Given the description of an element on the screen output the (x, y) to click on. 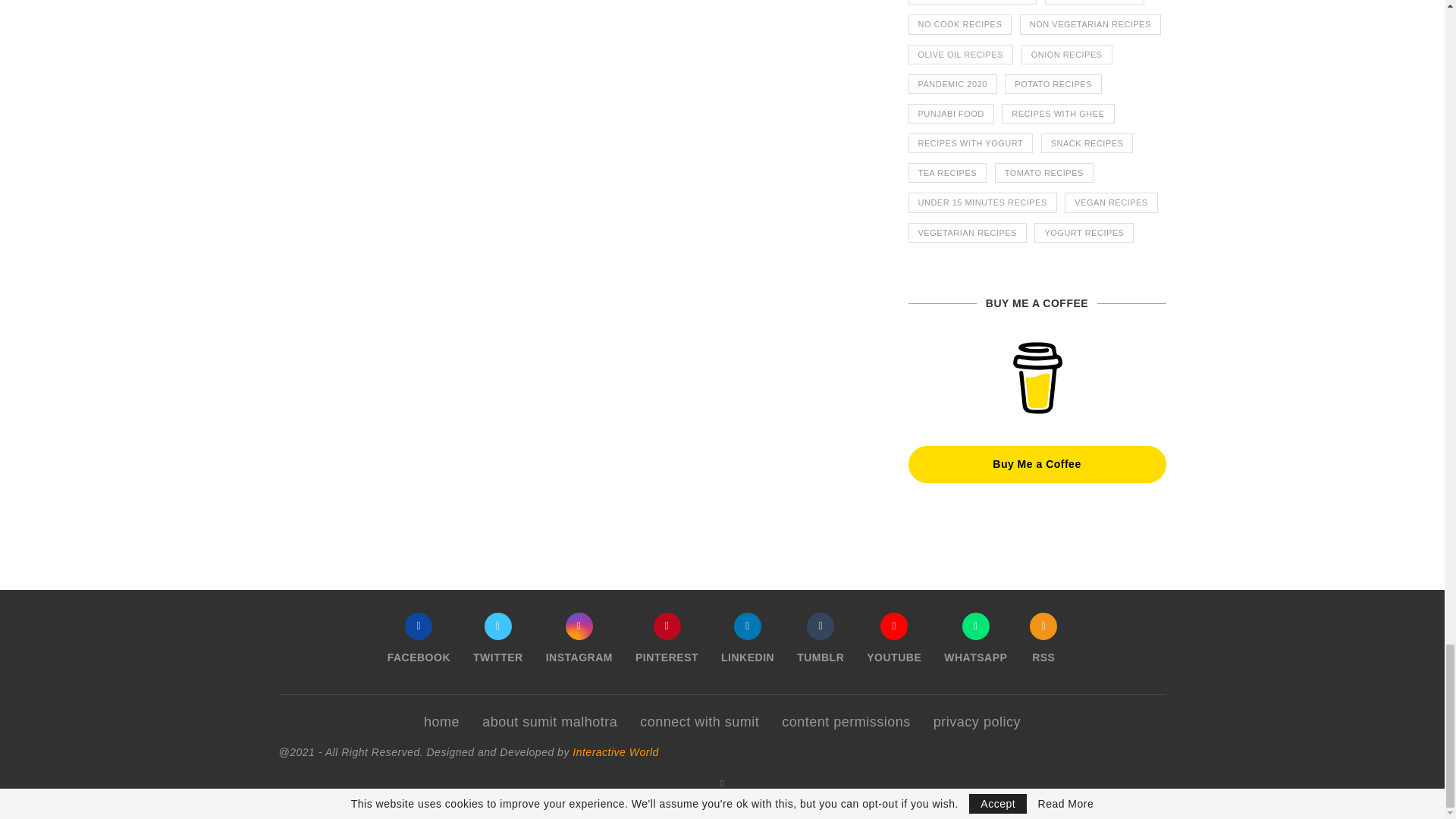
Buy Me a Coffee (1037, 378)
